Given the description of an element on the screen output the (x, y) to click on. 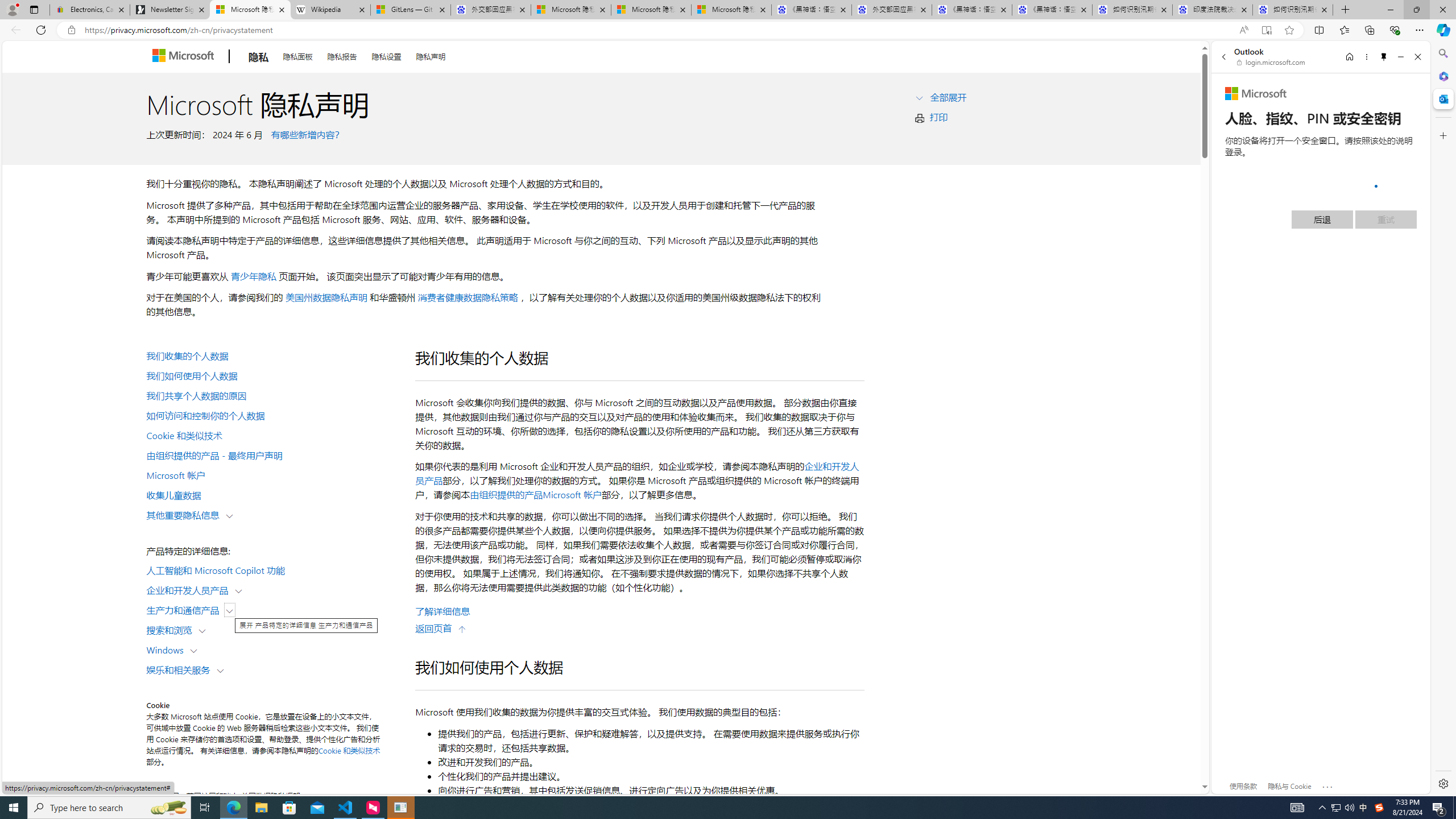
Microsoft (1255, 93)
